Given the description of an element on the screen output the (x, y) to click on. 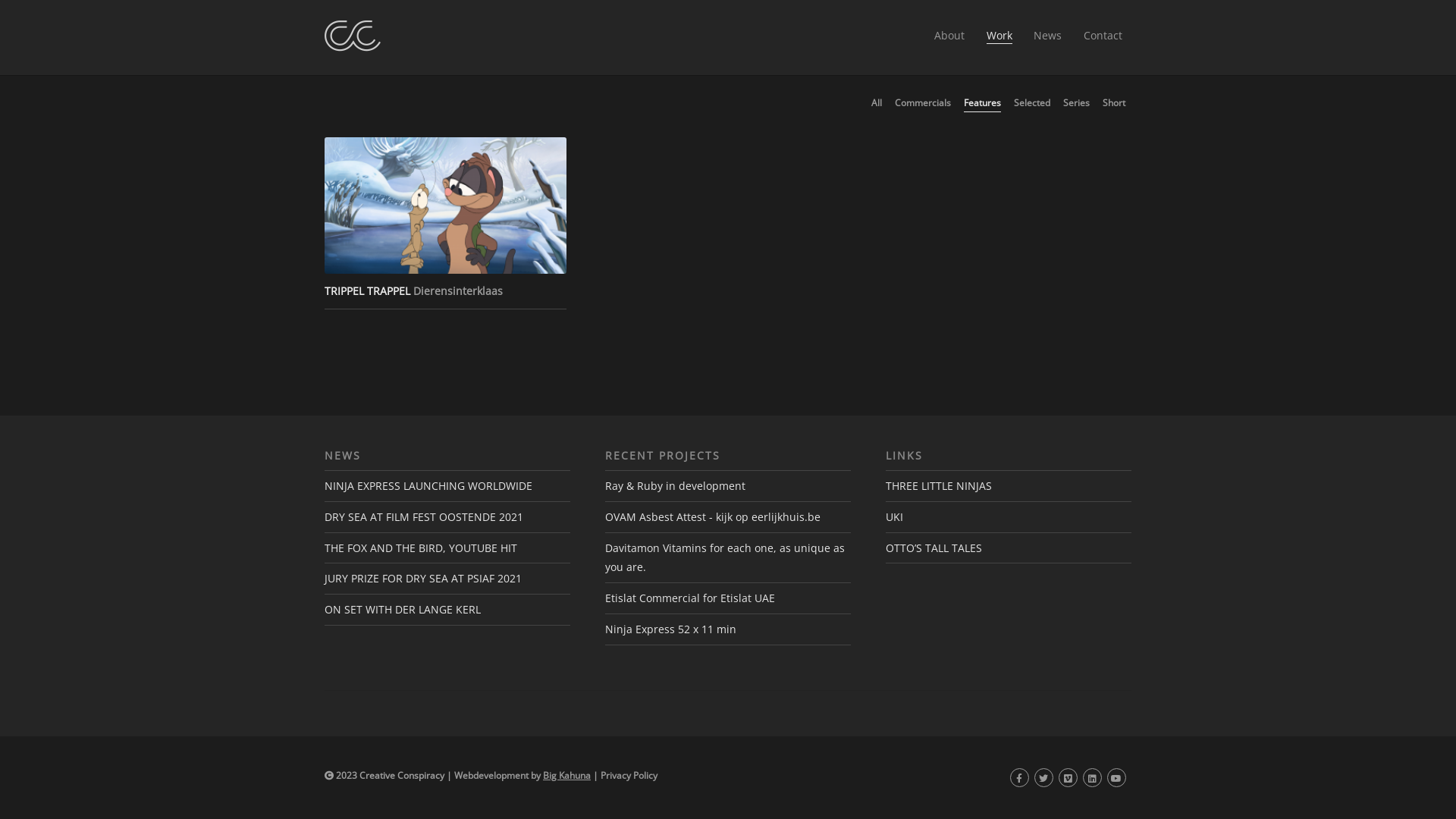
Series Element type: text (1076, 103)
Ninja Express 52 x 11 min Element type: text (670, 628)
All Element type: text (876, 103)
THE FOX AND THE BIRD, YOUTUBE HIT Element type: text (420, 547)
DRY SEA AT FILM FEST OOSTENDE 2021 Element type: text (423, 516)
Features Element type: text (982, 104)
Contact Element type: text (1102, 36)
Short Element type: text (1113, 103)
Privacy Policy Element type: text (628, 774)
Work Element type: text (999, 36)
Commercials Element type: text (922, 103)
Selected Element type: text (1031, 103)
NINJA EXPRESS LAUNCHING WORLDWIDE Element type: text (428, 485)
THREE LITTLE NINJAS Element type: text (938, 485)
Davitamon Vitamins for each one, as unique as you are. Element type: text (724, 557)
Skip to navigation Element type: text (323, 18)
UKI Element type: text (894, 516)
Ray & Ruby in development Element type: text (675, 485)
ON SET WITH DER LANGE KERL Element type: text (402, 609)
About Element type: text (949, 36)
JURY PRIZE FOR DRY SEA AT PSIAF 2021 Element type: text (422, 578)
Webdevelopment by Big Kahuna Element type: text (522, 774)
Etislat Commercial for Etislat UAE Element type: text (690, 597)
OVAM Asbest Attest - kijk op eerlijkhuis.be Element type: text (712, 516)
News Element type: text (1047, 36)
TRIPPEL TRAPPEL Dierensinterklaas Element type: text (445, 223)
